Given the description of an element on the screen output the (x, y) to click on. 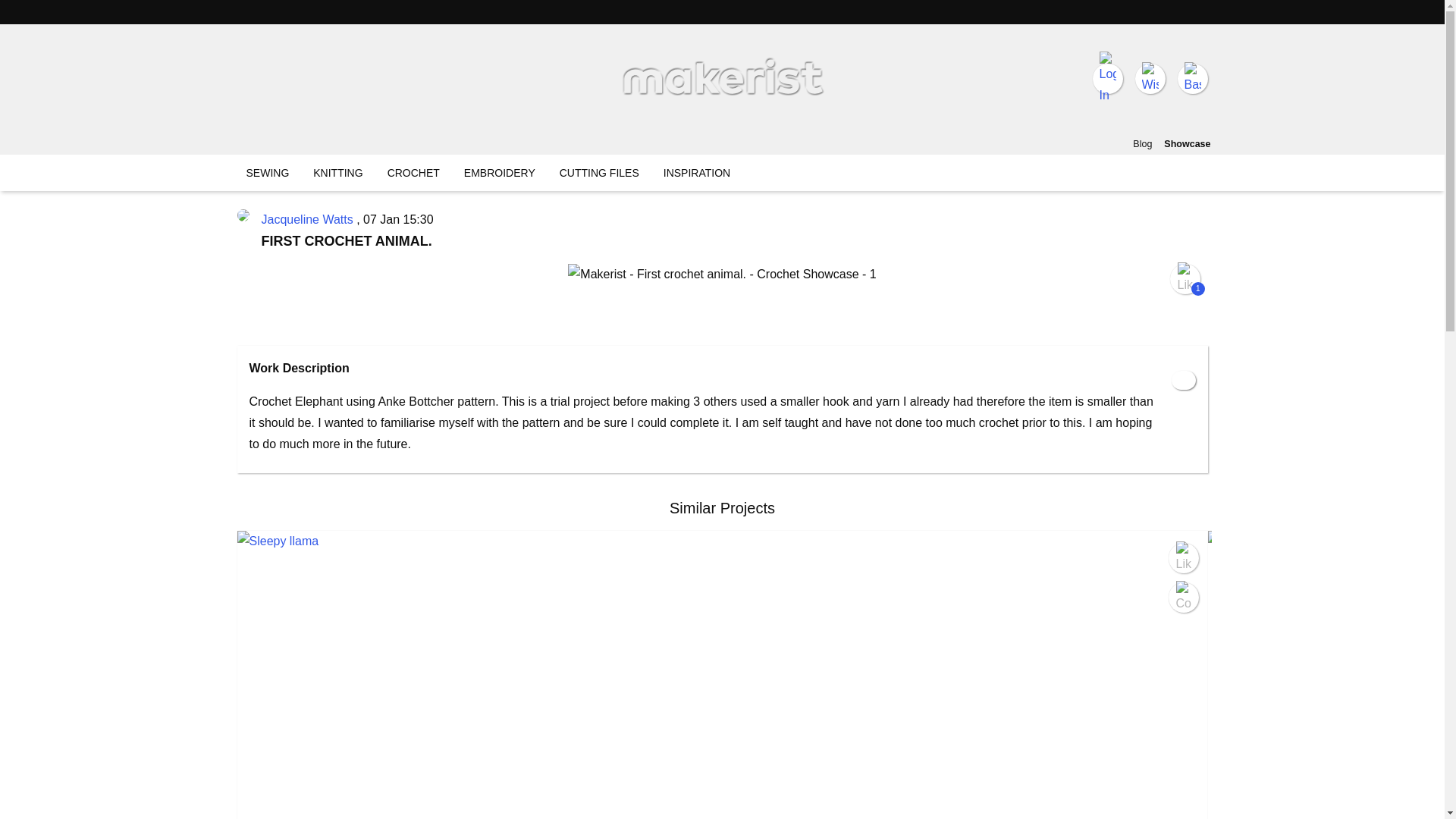
CUTTING FILES (599, 173)
Embroidery (499, 173)
Crochet (413, 173)
Basket (1191, 78)
Showcase (1186, 143)
Blog (1141, 143)
CROCHET (413, 173)
Inspiration (696, 173)
Showcase (1186, 143)
Sewing (267, 173)
